Given the description of an element on the screen output the (x, y) to click on. 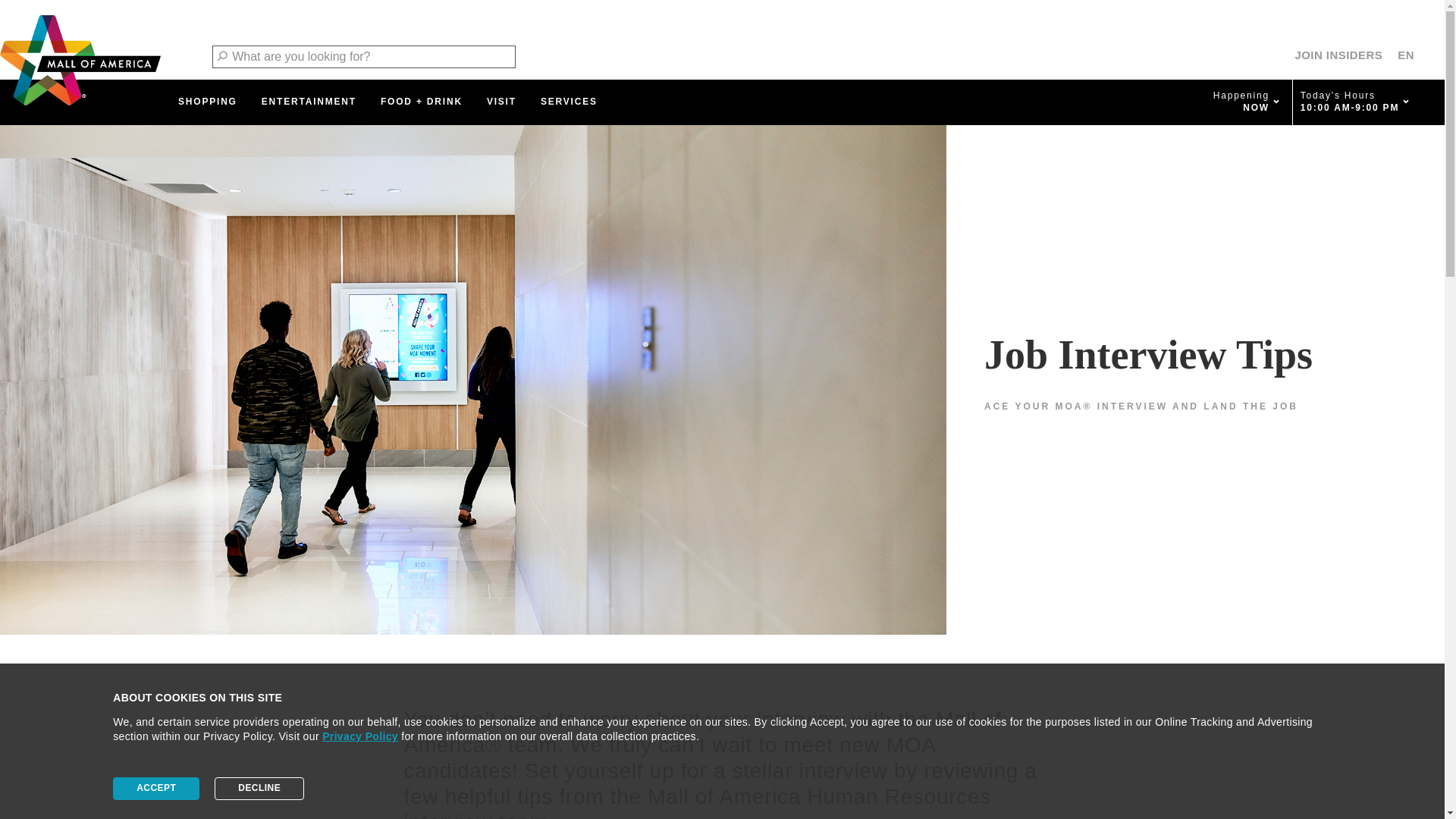
Privacy Policy (359, 736)
EN (1405, 55)
ACCEPT (156, 788)
JOIN INSIDERS (1337, 54)
SHOPPING (207, 102)
DECLINE (259, 788)
